Given the description of an element on the screen output the (x, y) to click on. 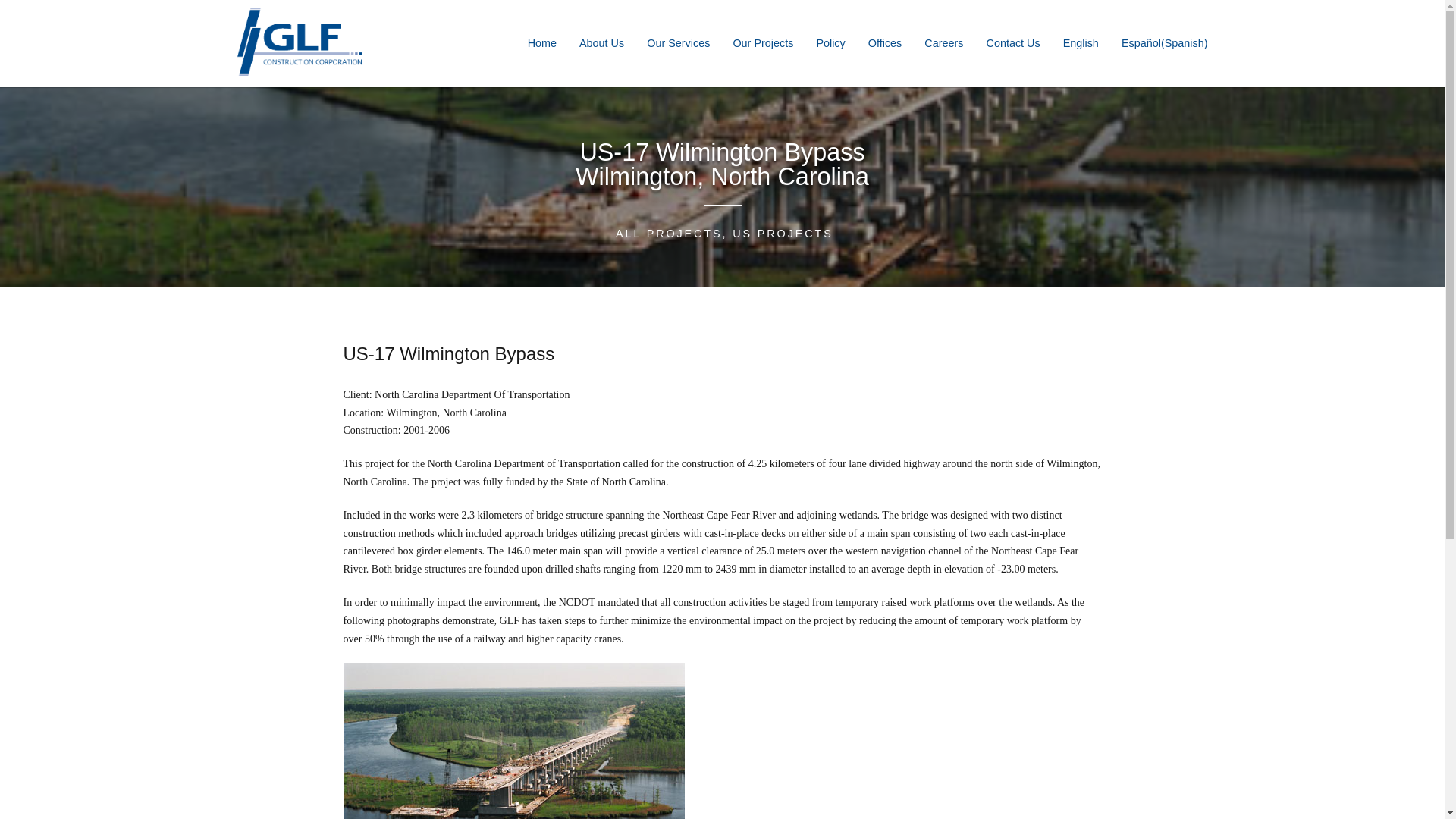
English (1080, 43)
English (1080, 43)
Our Services (678, 43)
Our Projects (762, 43)
About Us (601, 43)
Contact Us (1012, 43)
Policy (829, 43)
Offices (884, 43)
Careers (943, 43)
Spanish (1164, 43)
Home (541, 43)
